Given the description of an element on the screen output the (x, y) to click on. 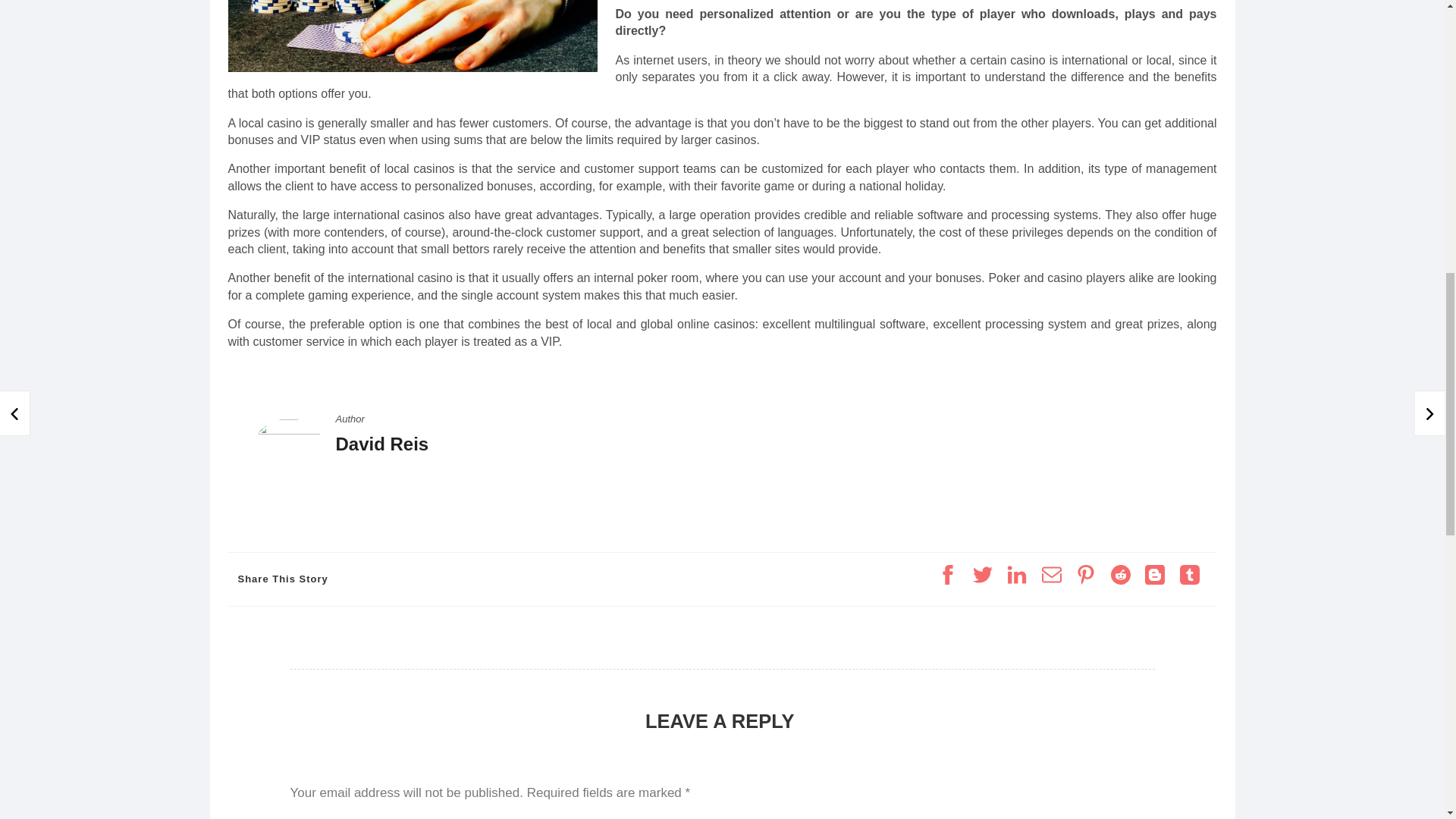
David Reis (381, 444)
Posts by David Reis (381, 444)
